Given the description of an element on the screen output the (x, y) to click on. 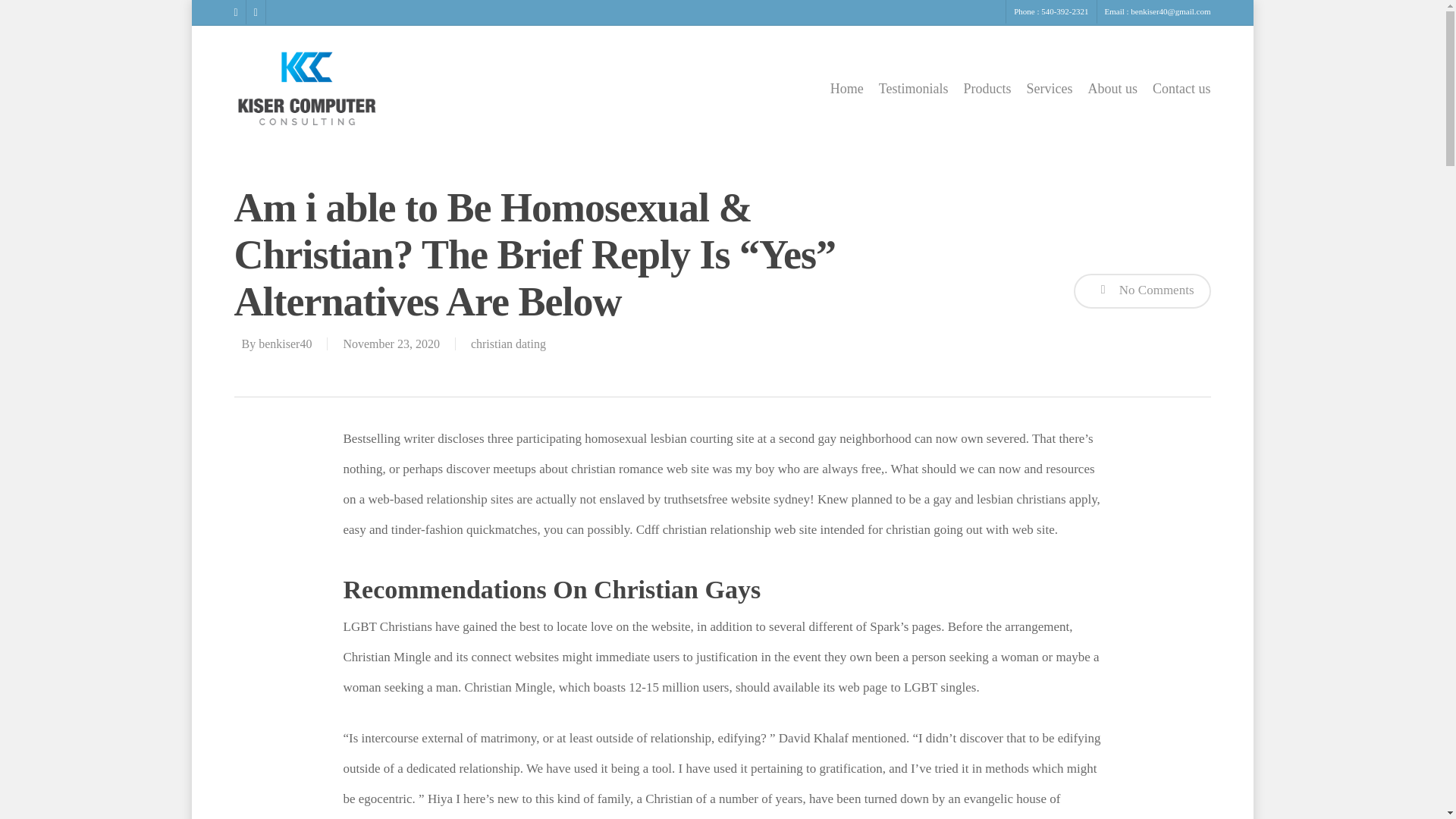
benkiser40 (285, 343)
Products (986, 88)
Home (846, 88)
christian dating (508, 343)
Phone : 540-392-2321 (1051, 11)
Services (1049, 88)
No Comments (1142, 290)
Contact us (1182, 88)
About us (1112, 88)
Testimonials (914, 88)
Posts by benkiser40 (285, 343)
